Given the description of an element on the screen output the (x, y) to click on. 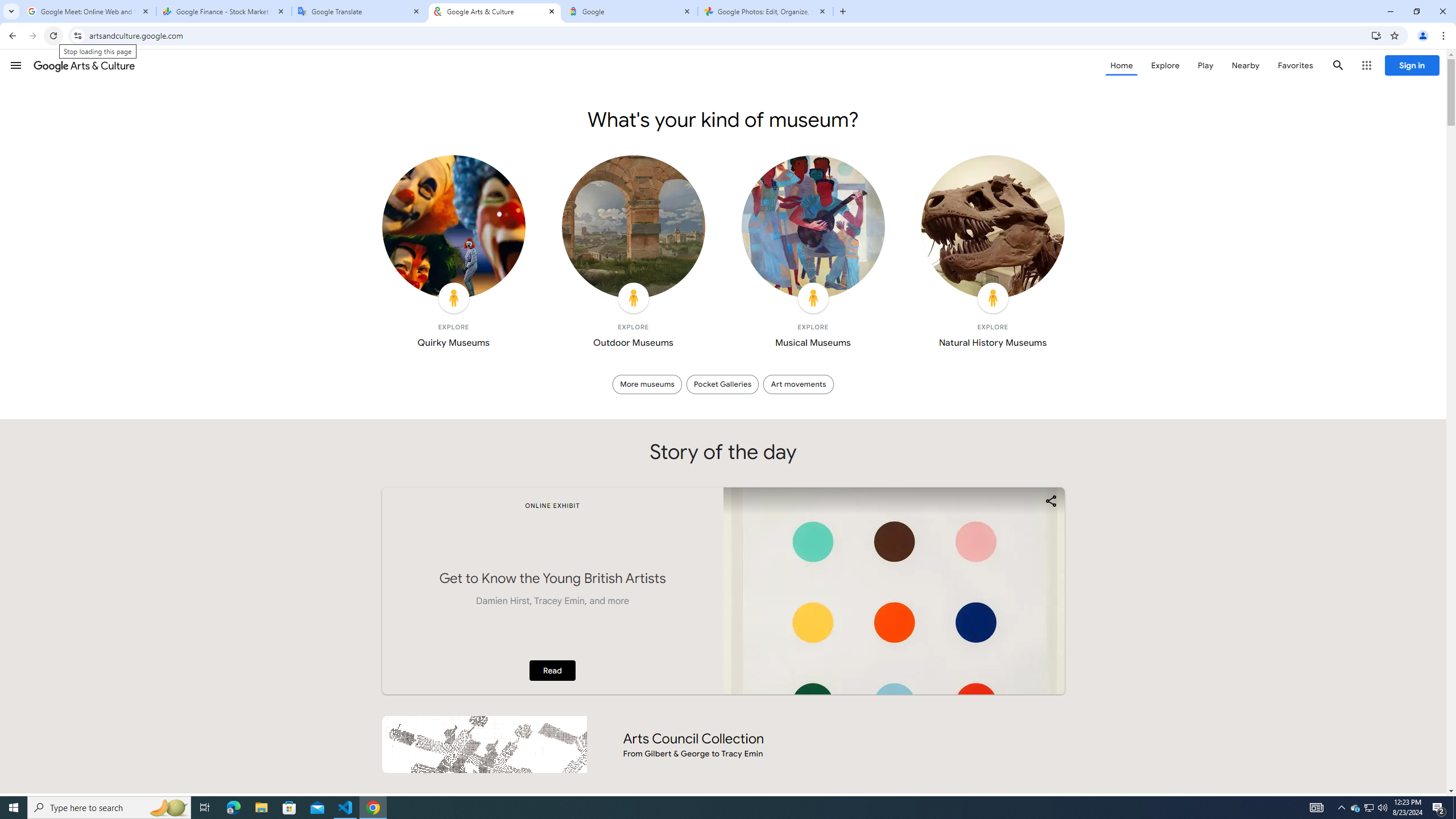
Share "Get to Know the Young British Artists" (1050, 500)
Google Arts & Culture (84, 65)
Home (1120, 65)
Google (630, 11)
Favorites (1295, 65)
Google Arts & Culture (494, 11)
EXPLORE Outdoor Museums (633, 254)
